Given the description of an element on the screen output the (x, y) to click on. 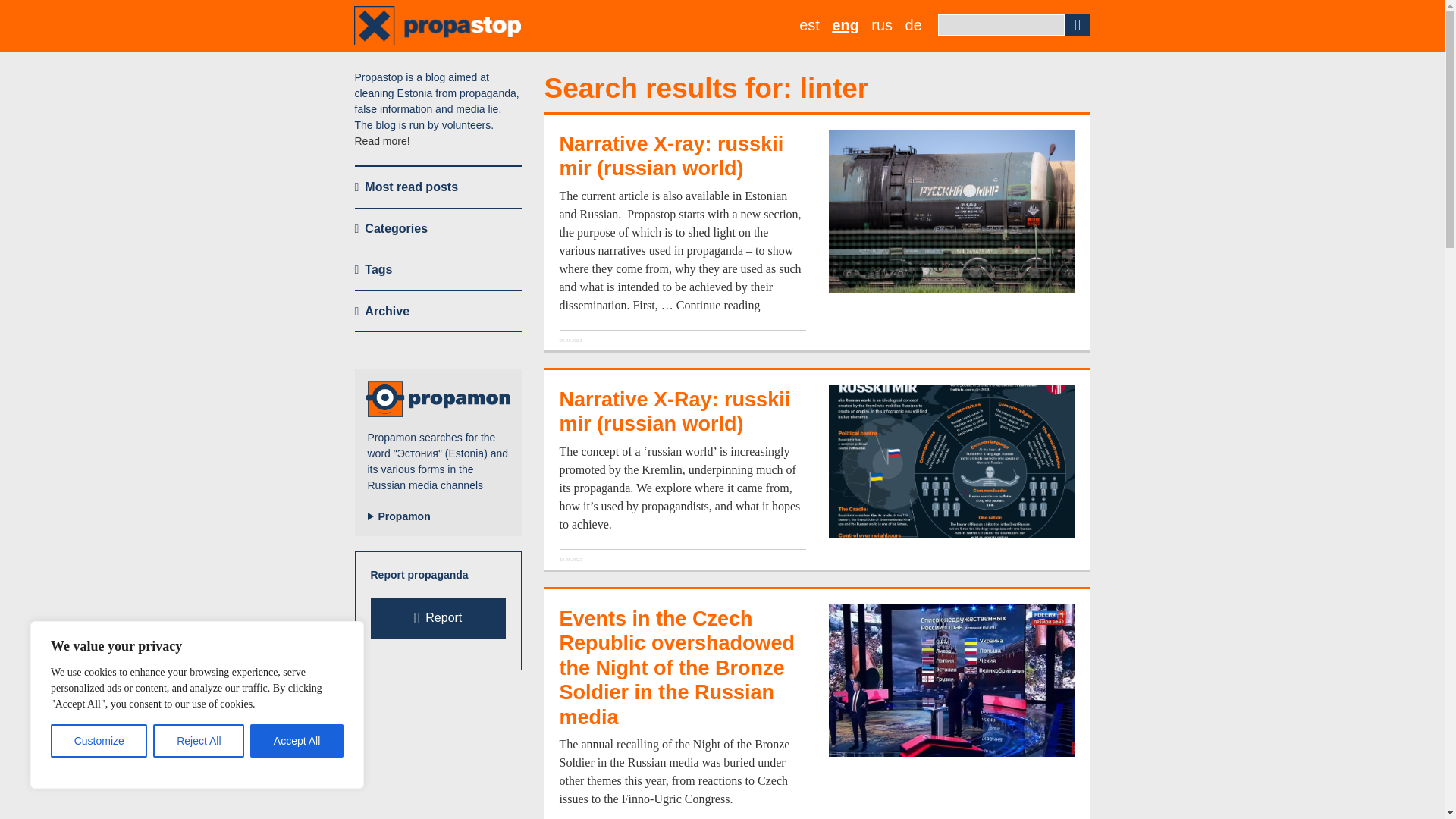
Reject All (198, 740)
Read more! (382, 141)
eng (845, 25)
Accept All (296, 740)
de (913, 25)
Customize (98, 740)
Categories (438, 228)
rus (881, 25)
Most read posts (438, 187)
est (809, 25)
